Given the description of an element on the screen output the (x, y) to click on. 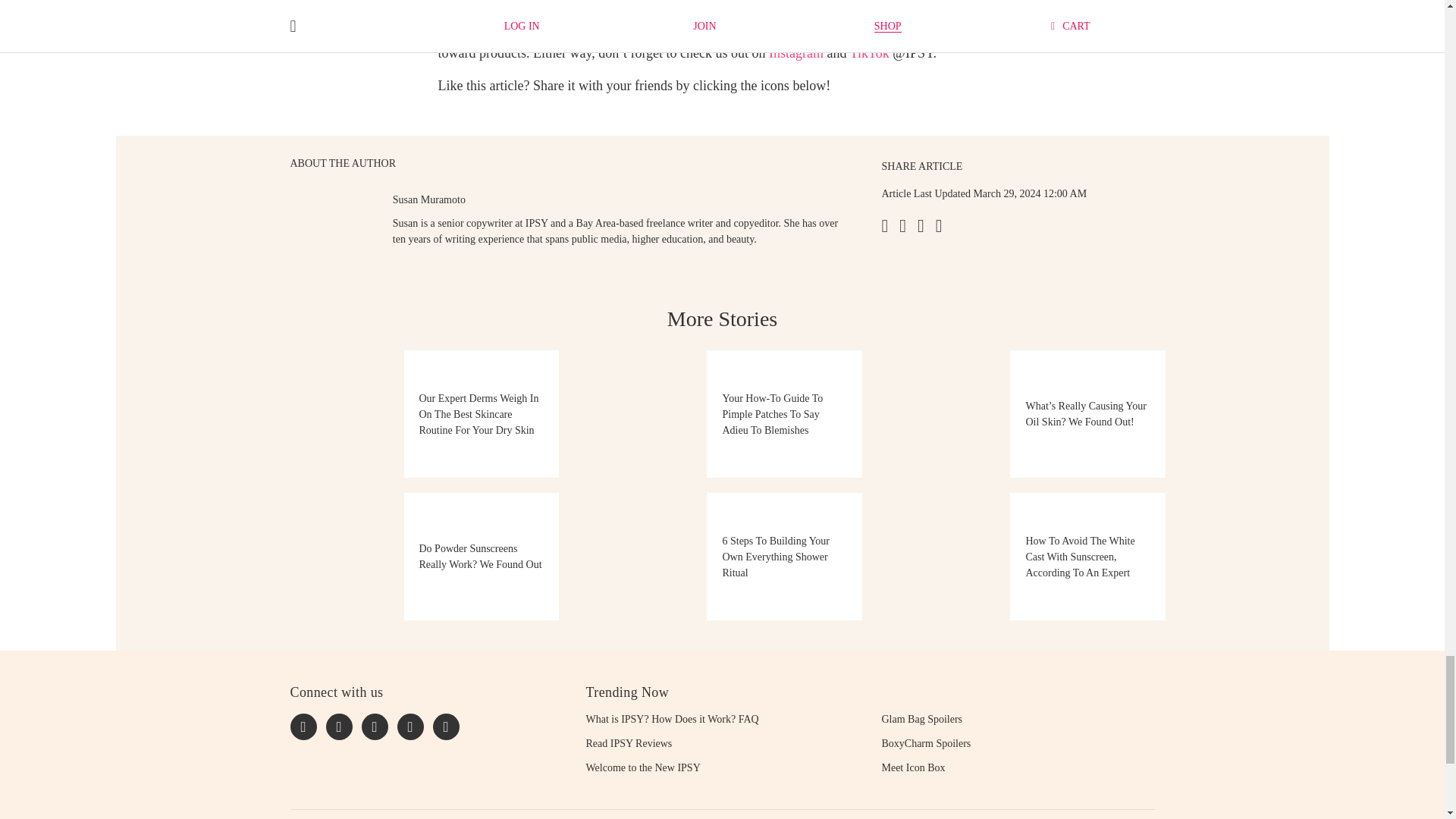
6 Steps To Building Your Own Everything Shower Ritual (720, 556)
Refer your friends (738, 28)
Do Powder Sunscreens Really Work? We Found Out (419, 556)
Beauty Quiz (810, 5)
TikTok (869, 52)
Instagram (796, 52)
